Given the description of an element on the screen output the (x, y) to click on. 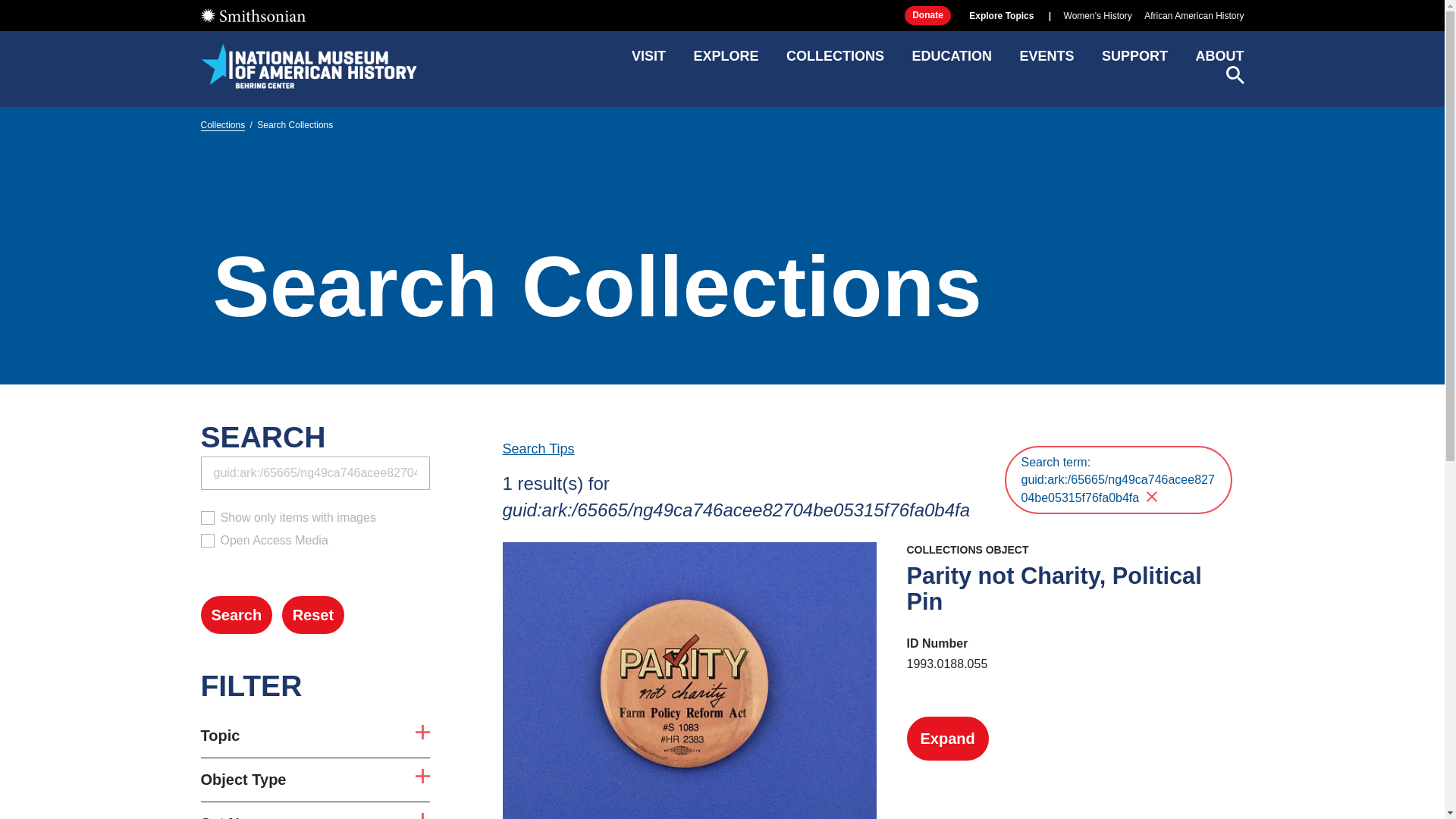
EVENTS (1047, 60)
ABOUT (1219, 60)
Smithsonian (252, 15)
Women's History (1098, 15)
Donate (927, 15)
Reset (312, 614)
SUPPORT (1134, 60)
National Museum of American History (314, 735)
EXPLORE (308, 65)
Reset (725, 60)
Skip to main content (314, 816)
EDUCATION (312, 614)
